Given the description of an element on the screen output the (x, y) to click on. 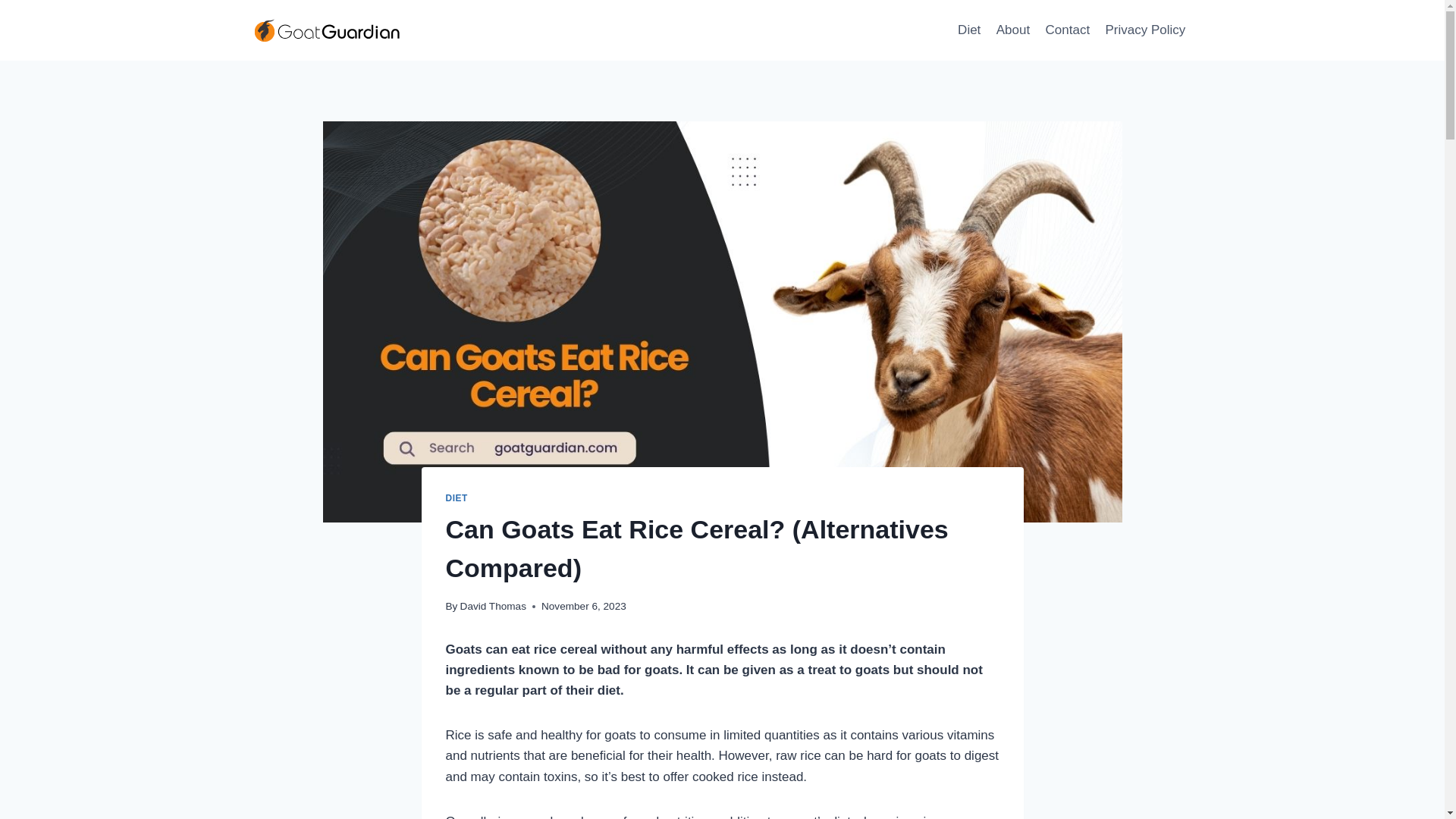
DIET (456, 498)
David Thomas (492, 605)
About (1013, 30)
Contact (1066, 30)
Privacy Policy (1144, 30)
Diet (969, 30)
